Given the description of an element on the screen output the (x, y) to click on. 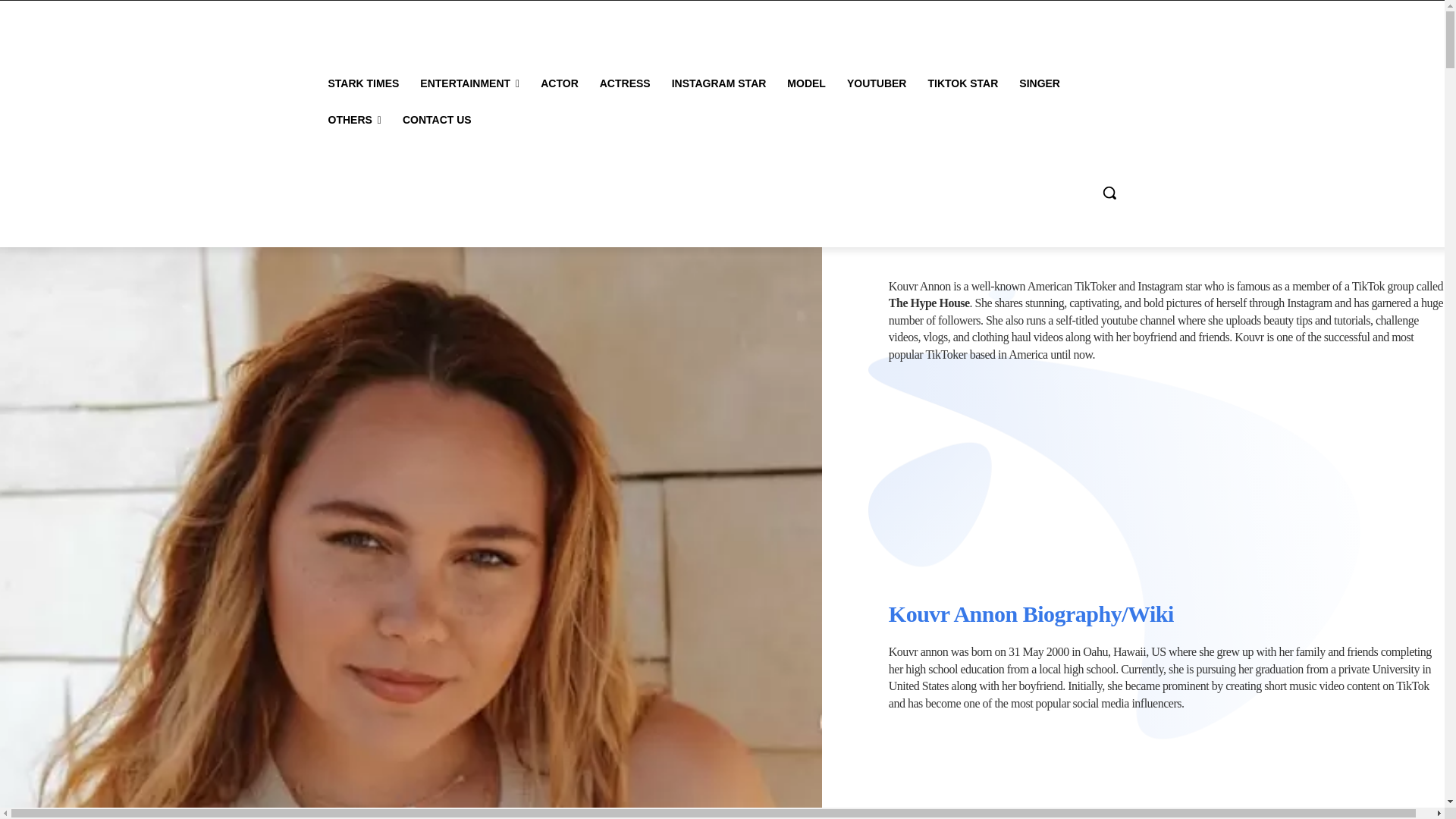
STARK TIMES (363, 83)
ENTERTAINMENT (469, 83)
